Given the description of an element on the screen output the (x, y) to click on. 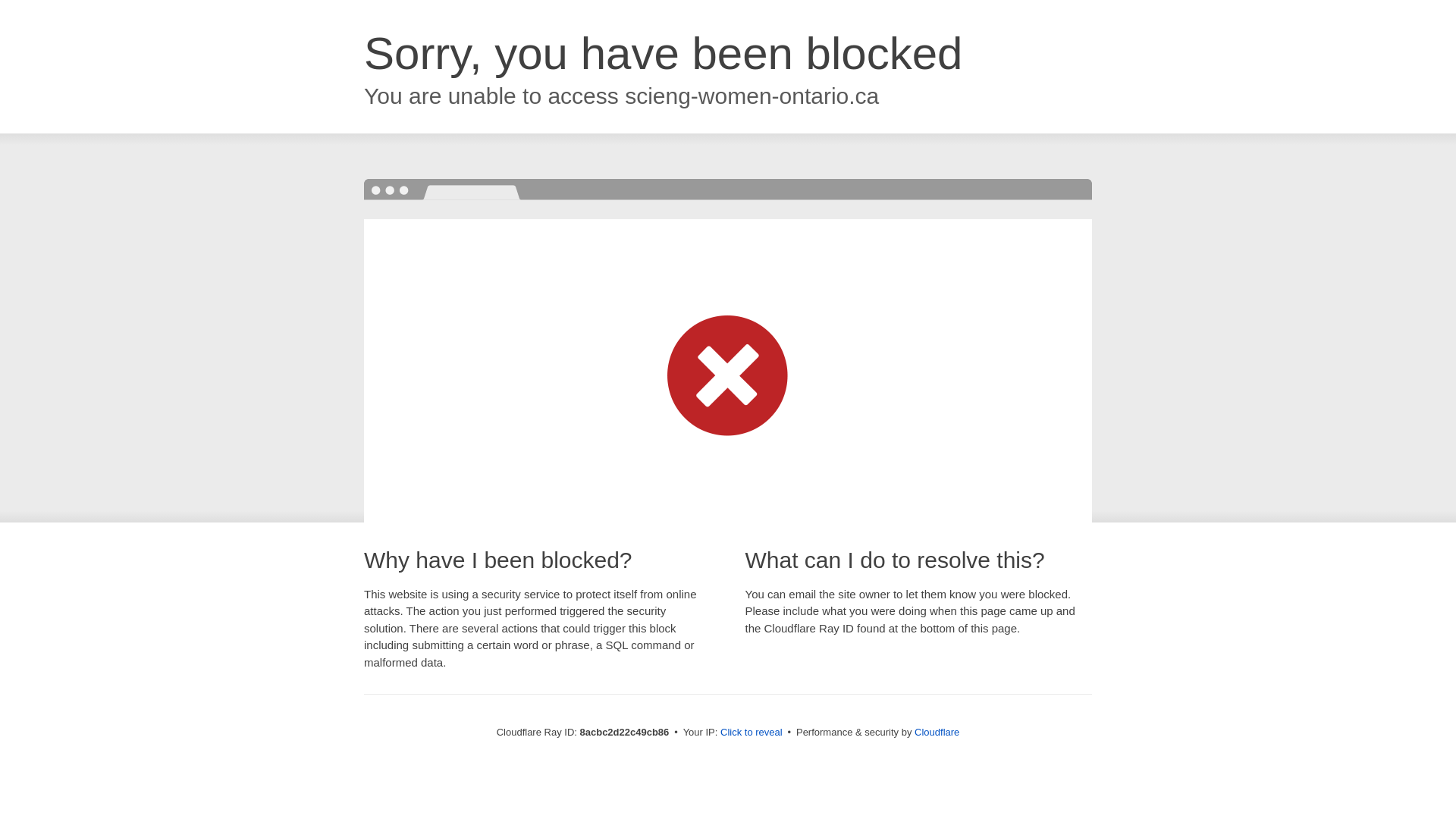
Cloudflare (936, 731)
Click to reveal (751, 732)
